Given the description of an element on the screen output the (x, y) to click on. 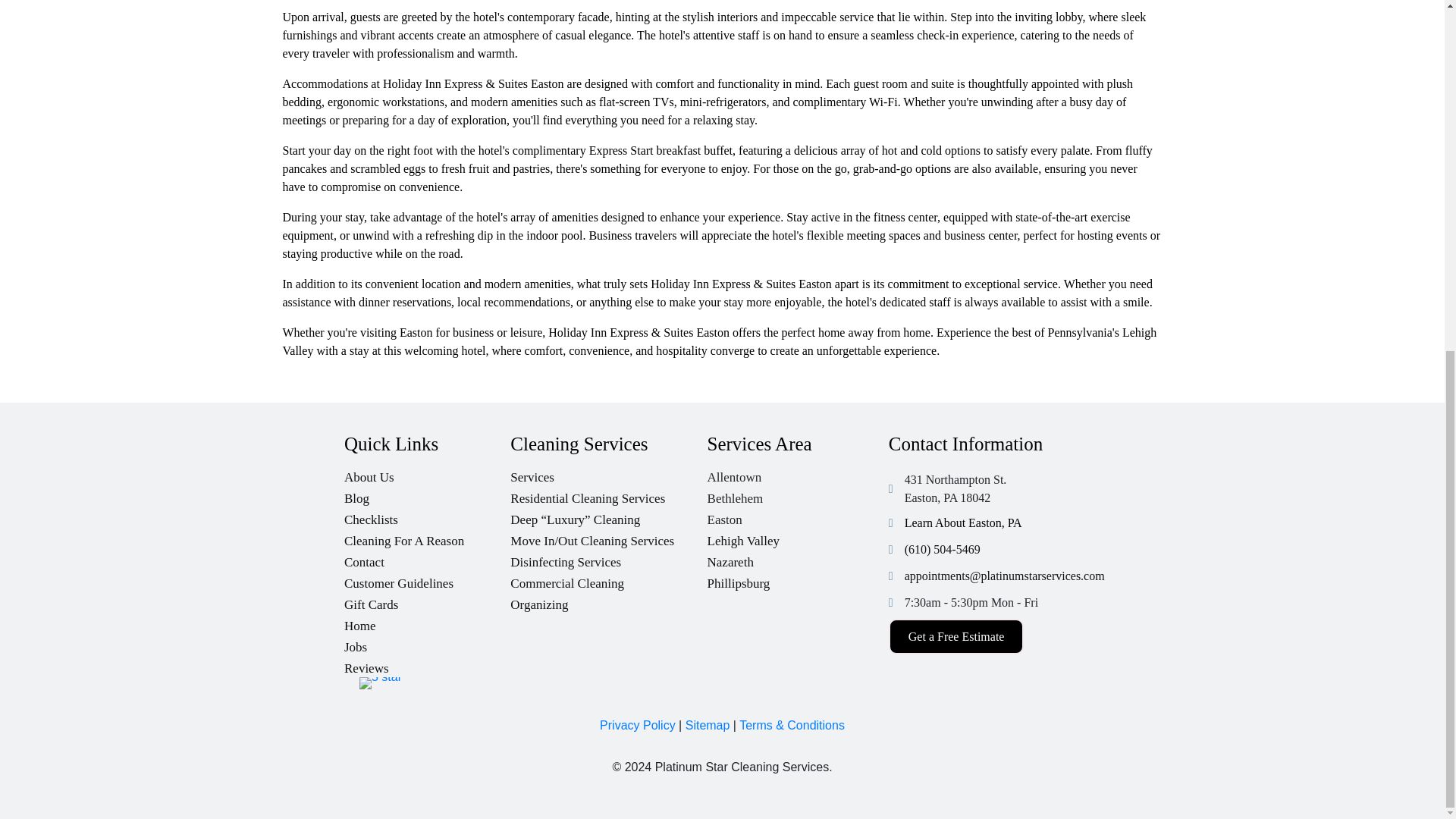
Home (427, 621)
Reviews (427, 664)
Contact (427, 557)
Commercial Cleaning (608, 579)
Gift Cards (427, 600)
Customer Guidelines (427, 579)
Allentown (797, 473)
Checklists (427, 516)
Cleaning For A Reason (427, 537)
Organizing (608, 600)
